Given the description of an element on the screen output the (x, y) to click on. 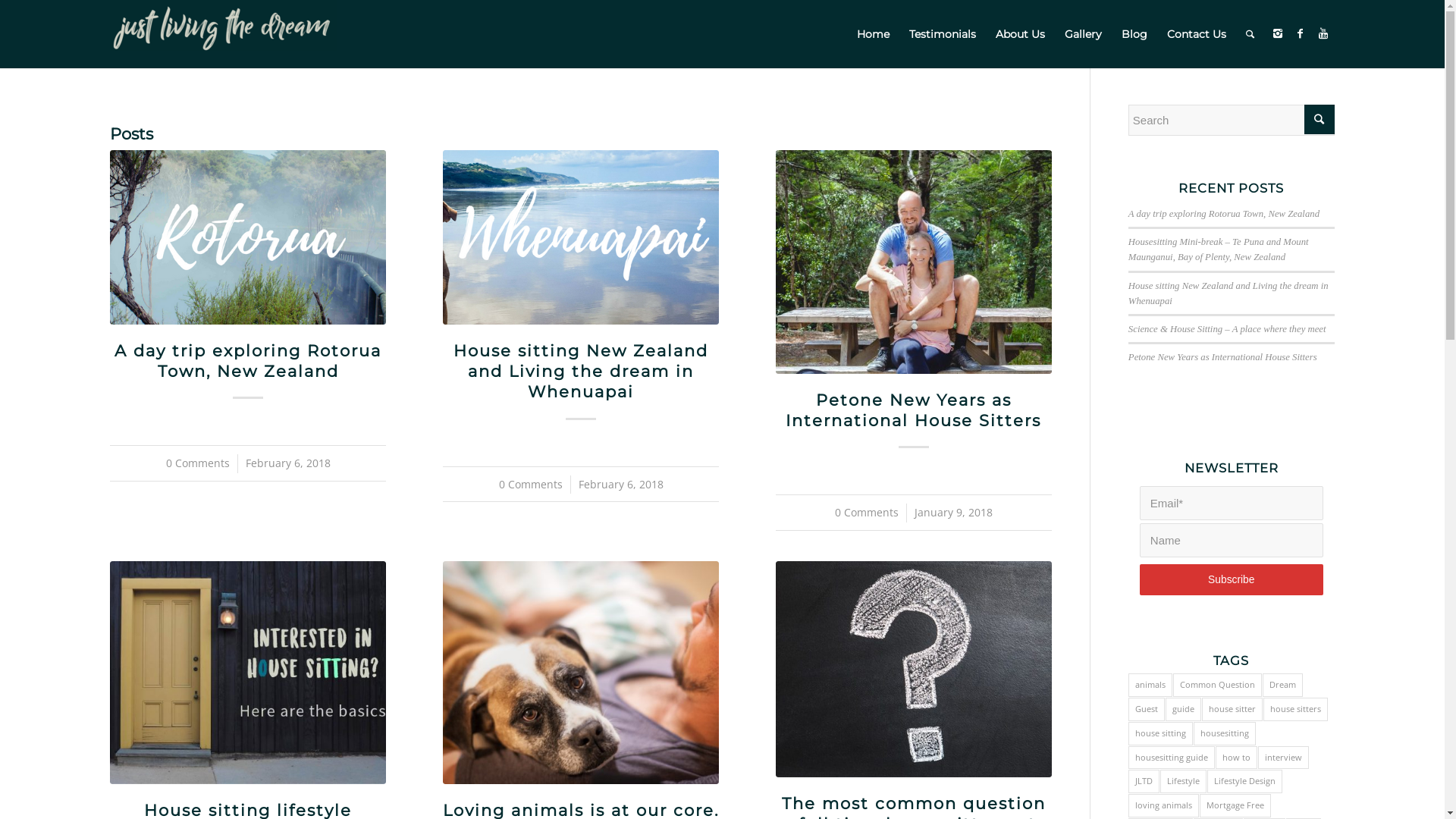
0 Comments Element type: text (197, 463)
Guest Element type: text (1146, 709)
Home Element type: text (873, 34)
Lifestyle Element type: text (1183, 781)
house sitting Element type: text (1160, 733)
guide Element type: text (1183, 709)
Petone New Years as International House Sitters Element type: text (913, 409)
loving animals Element type: text (1163, 805)
Subscribe Element type: text (1231, 579)
housesitting Element type: text (1224, 733)
About Us Element type: text (1019, 34)
interview Element type: text (1283, 757)
Lifestyle Design Element type: text (1244, 781)
A day trip exploring Rotorua Town, New Zealand Element type: text (1223, 213)
house sitter Element type: text (1231, 709)
Contact Us Element type: text (1196, 34)
Gallery Element type: text (1082, 34)
A day trip exploring Rotorua Town, New Zealand Element type: text (247, 360)
House sitting New Zealand and Living the dream in Whenuapai Element type: text (580, 371)
housesitting guide Element type: text (1171, 757)
0 Comments Element type: text (866, 512)
Petone New Years as International House Sitters Element type: text (1222, 356)
0 Comments Element type: text (530, 484)
Dream Element type: text (1282, 684)
Facebook Element type: hover (1300, 32)
how to Element type: text (1236, 757)
Testimonials Element type: text (942, 34)
animals Element type: text (1150, 684)
Common Question Element type: text (1217, 684)
House sitting New Zealand and Living the dream in Whenuapai Element type: text (1228, 293)
Youtube Element type: hover (1322, 32)
Mortgage Free Element type: text (1234, 805)
Instagram Element type: hover (1277, 32)
JLTD Element type: text (1143, 781)
house sitters Element type: text (1295, 709)
Blog Element type: text (1134, 34)
